Given the description of an element on the screen output the (x, y) to click on. 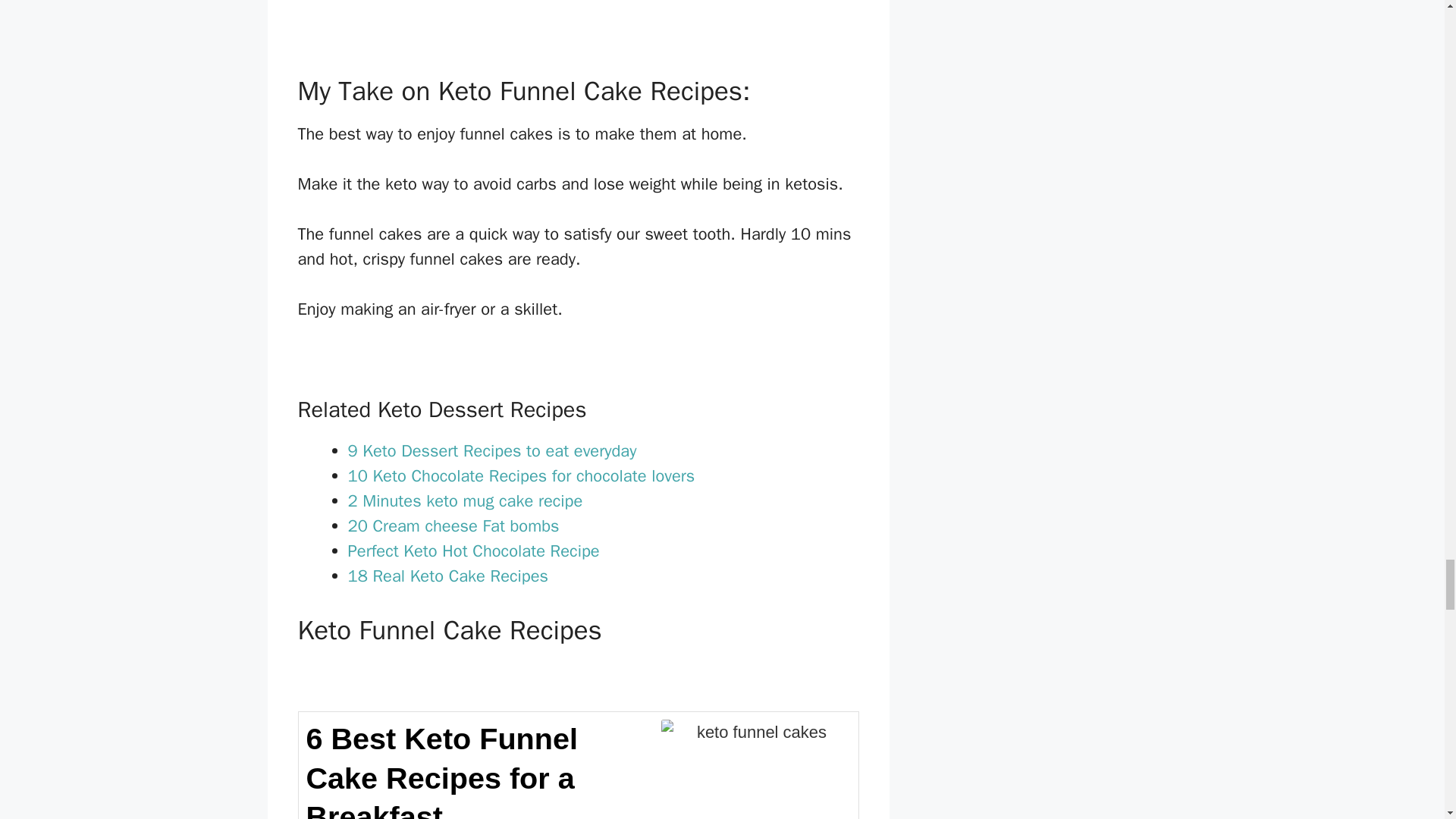
10 Keto Chocolate Recipes for chocolate lovers (520, 476)
Perfect Keto Hot Chocolate Recipe (472, 550)
9 Keto Dessert Recipes to eat everyday (491, 450)
2 Minutes keto mug cake recipe (464, 500)
20 Cream cheese Fat bombs (453, 526)
18 Real Keto Cake Recipes (447, 576)
